Given the description of an element on the screen output the (x, y) to click on. 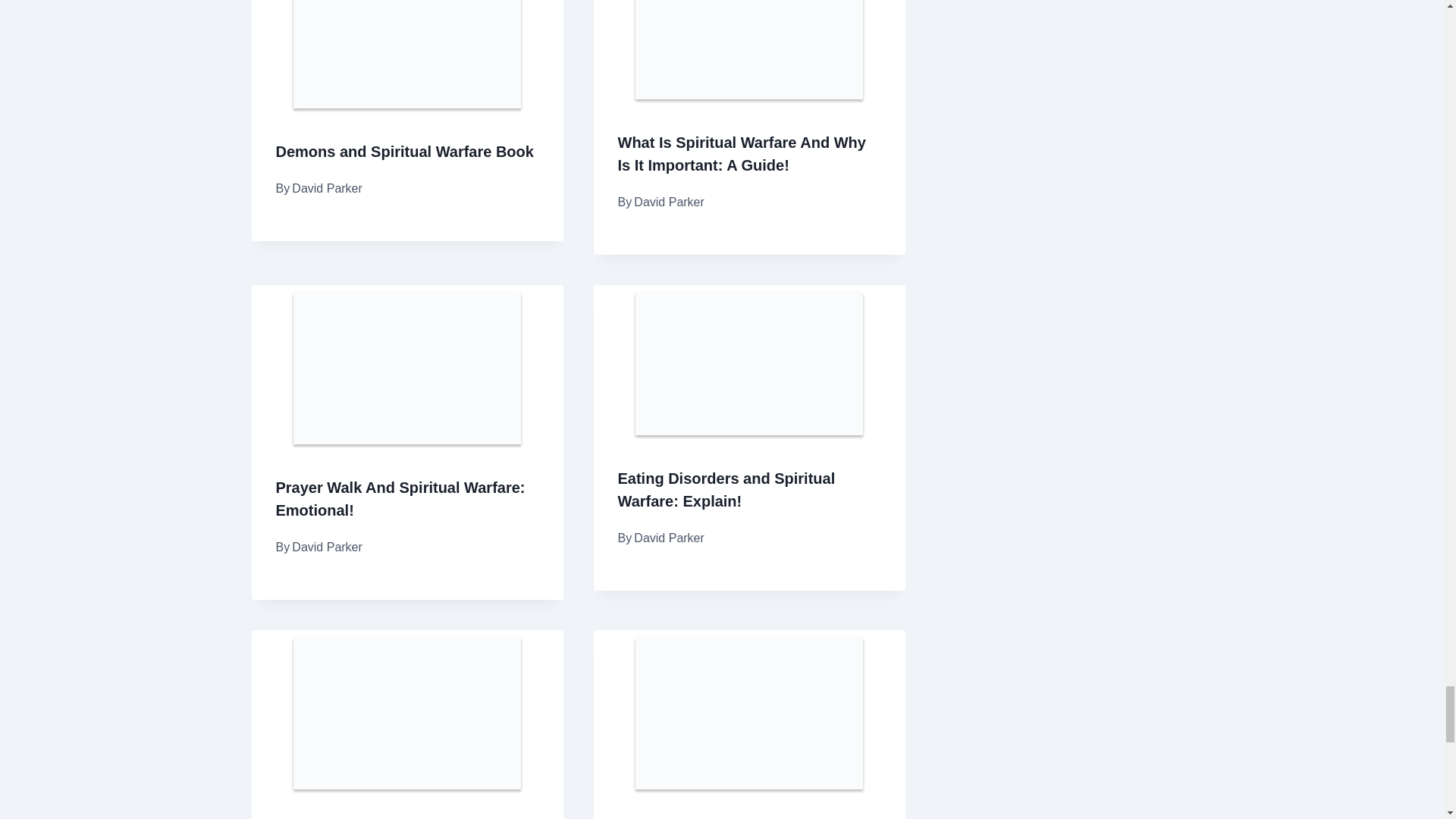
Demons and Spiritual Warfare Book (405, 151)
